Given the description of an element on the screen output the (x, y) to click on. 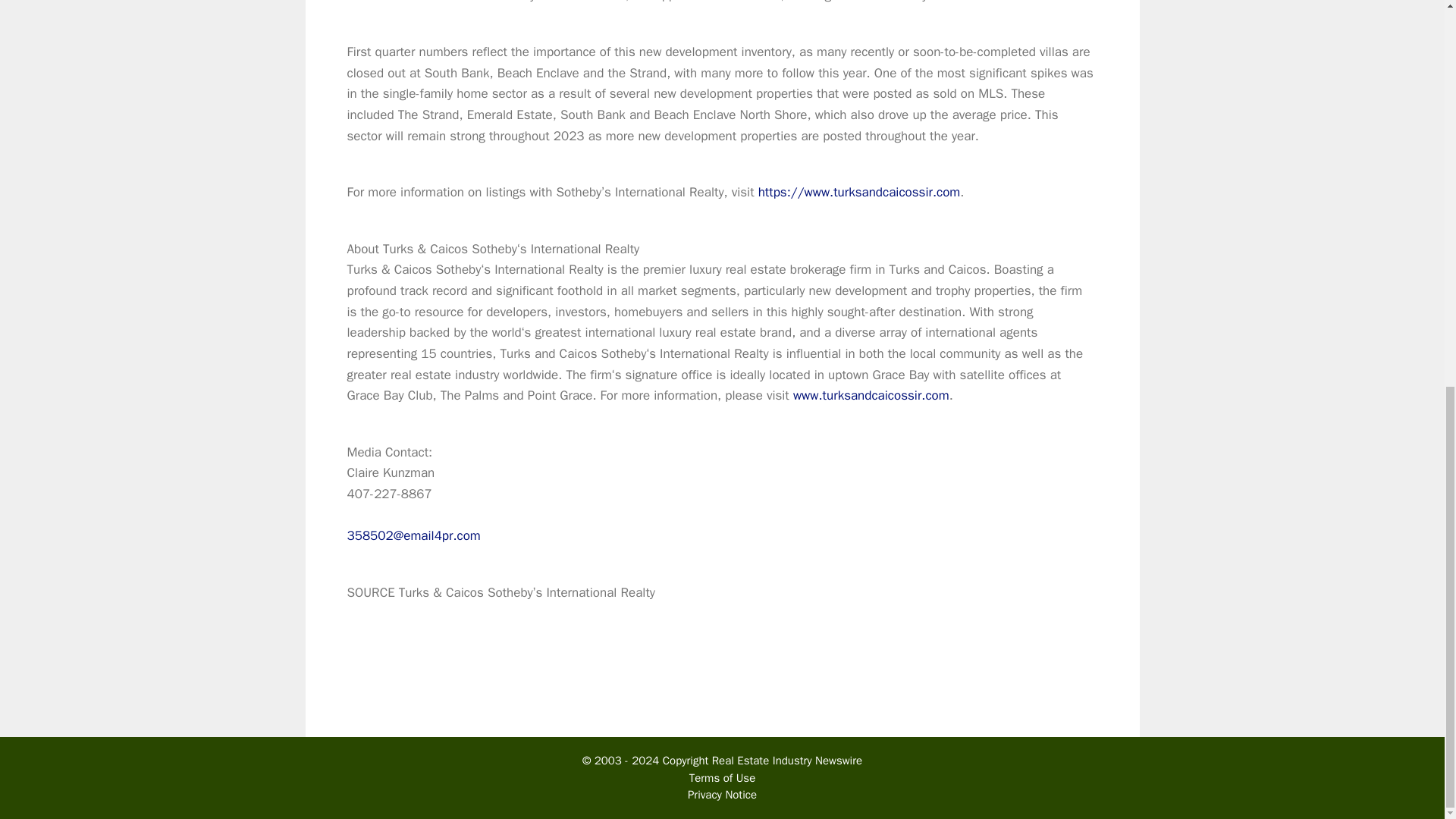
www.turksandcaicossir.com (871, 395)
Terms of Use (721, 777)
Privacy Notice (722, 794)
